Given the description of an element on the screen output the (x, y) to click on. 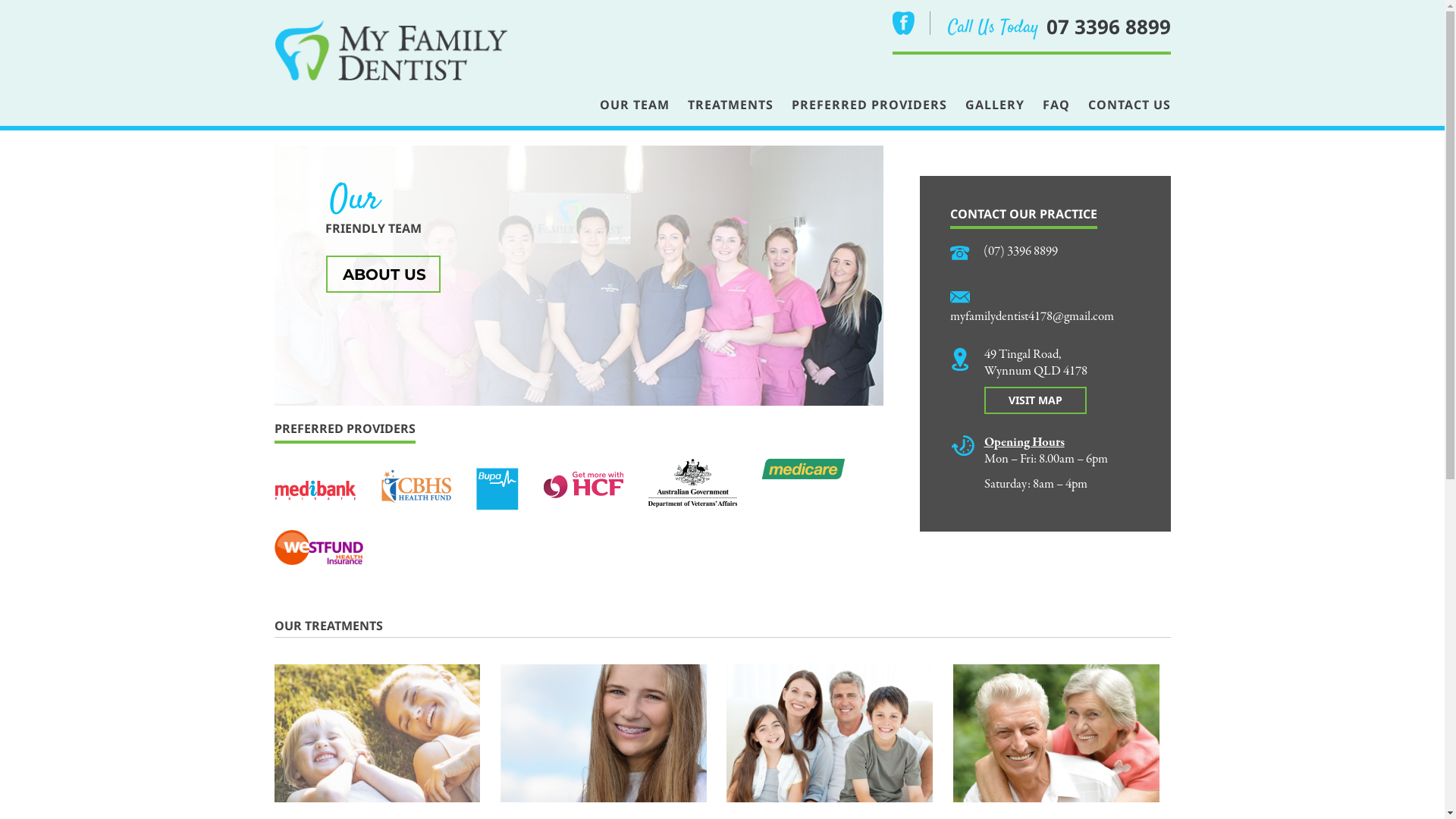
Medibank Element type: hover (315, 490)
Preferred Providers Element type: hover (318, 546)
TREATMENTS Element type: text (729, 104)
CBHS Element type: hover (415, 485)
CONTACT US Element type: text (1128, 104)
Preventative Element type: hover (829, 740)
OUR TEAM Element type: text (633, 104)
PREFERRED PROVIDERS Element type: text (869, 104)
Medicare Element type: hover (802, 468)
GALLERY Element type: text (993, 104)
HCF Element type: hover (582, 484)
07 3396 8899 Element type: text (1108, 26)
Wynnum Dentist | My Family Dentist Element type: hover (390, 49)
Orthodontics Element type: hover (603, 740)
myfamilydentist4178@gmail.com Element type: text (1031, 316)
FAQ Element type: text (1055, 104)
(07) 3396 8899 Element type: text (1020, 251)
Emergency pain relief Element type: hover (377, 740)
VISIT MAP Element type: text (1035, 400)
PREFERRED PROVIDERS Element type: text (344, 428)
Australian Gov Element type: hover (691, 482)
Bupa Element type: hover (497, 488)
Restorative Dentistry Element type: hover (1056, 740)
